Given the description of an element on the screen output the (x, y) to click on. 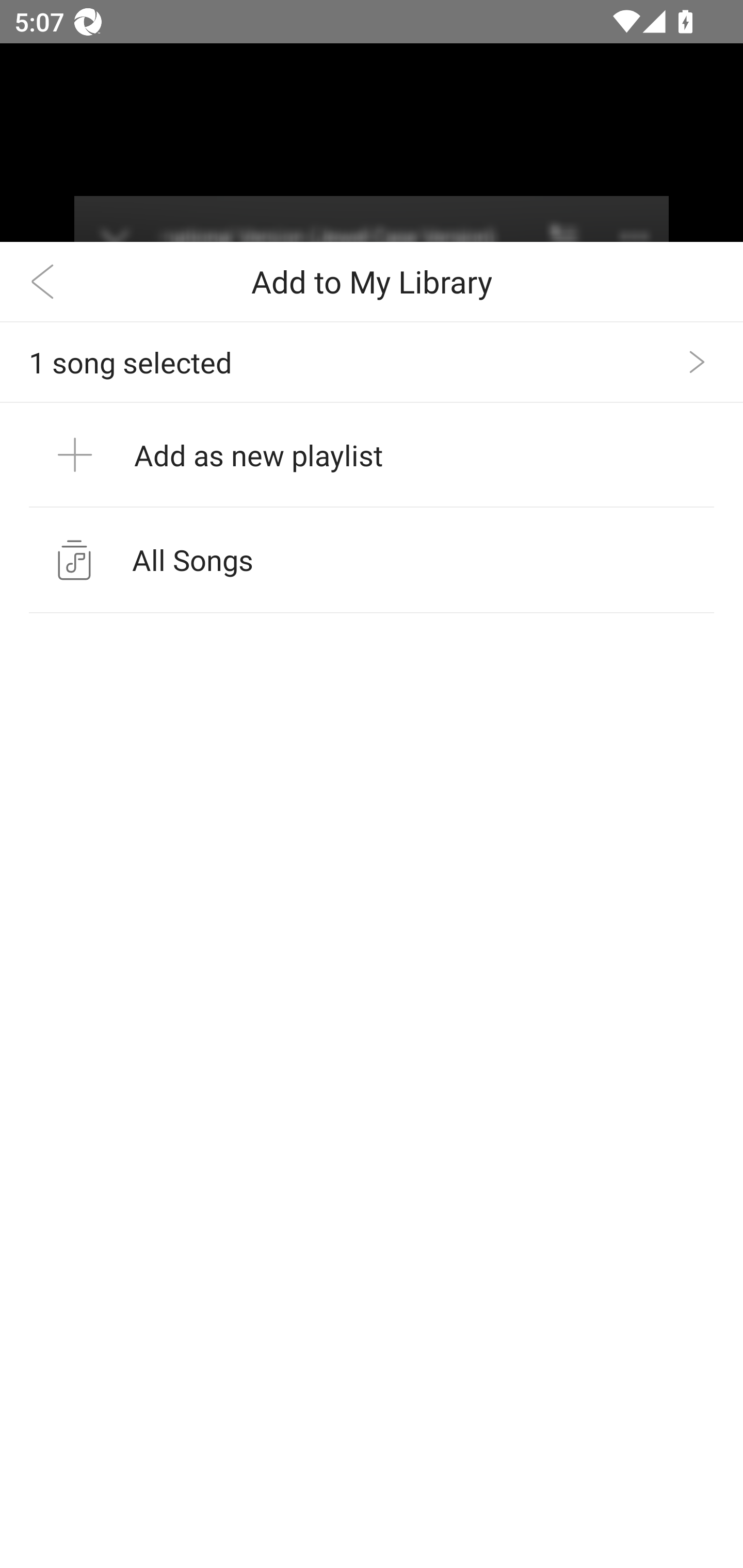
1 song selected label_track_count (371, 362)
Add as new playlist (371, 455)
All Songs (371, 560)
